Given the description of an element on the screen output the (x, y) to click on. 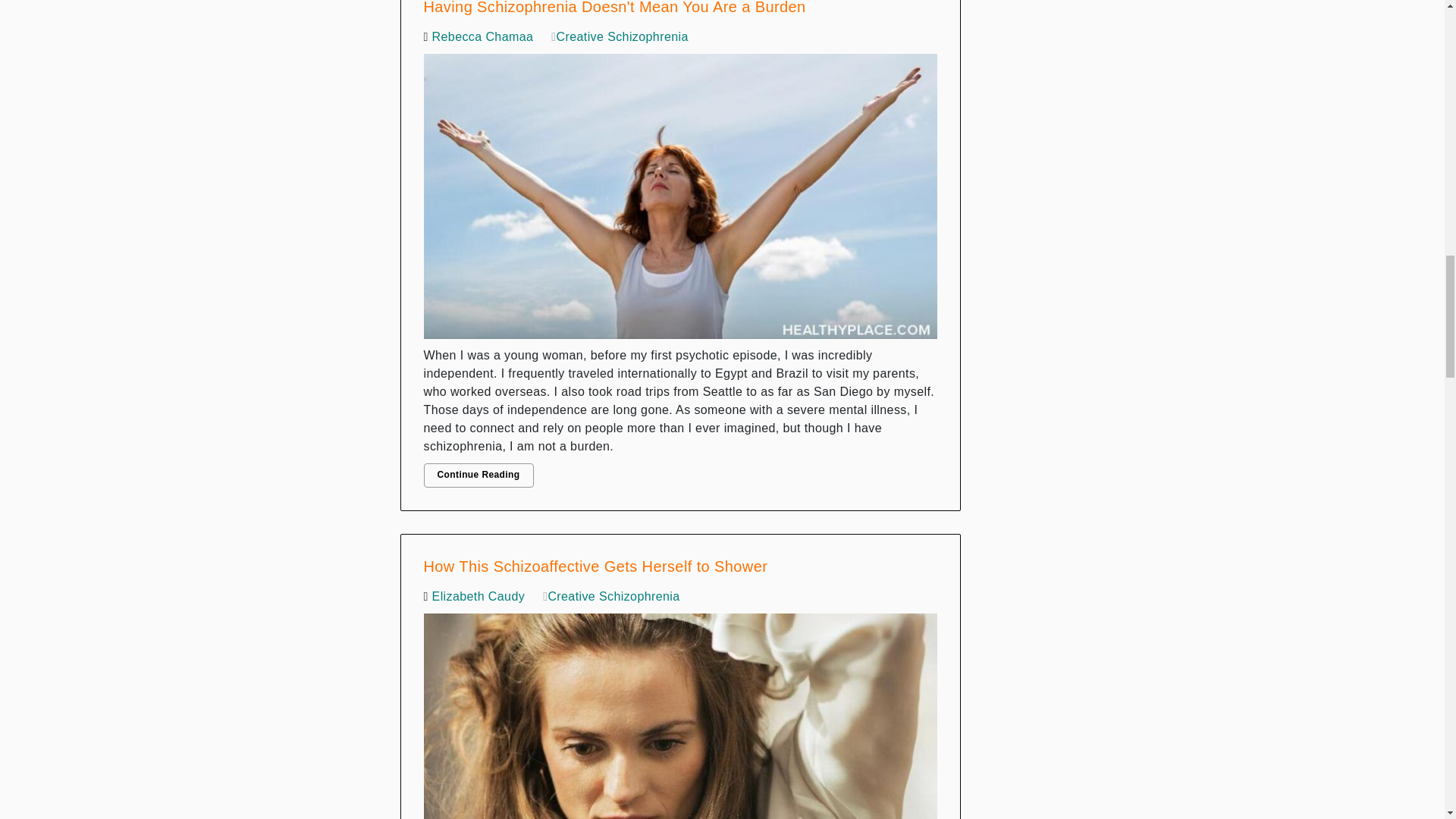
How This Schizoaffective Gets Herself to Shower (680, 712)
